Given the description of an element on the screen output the (x, y) to click on. 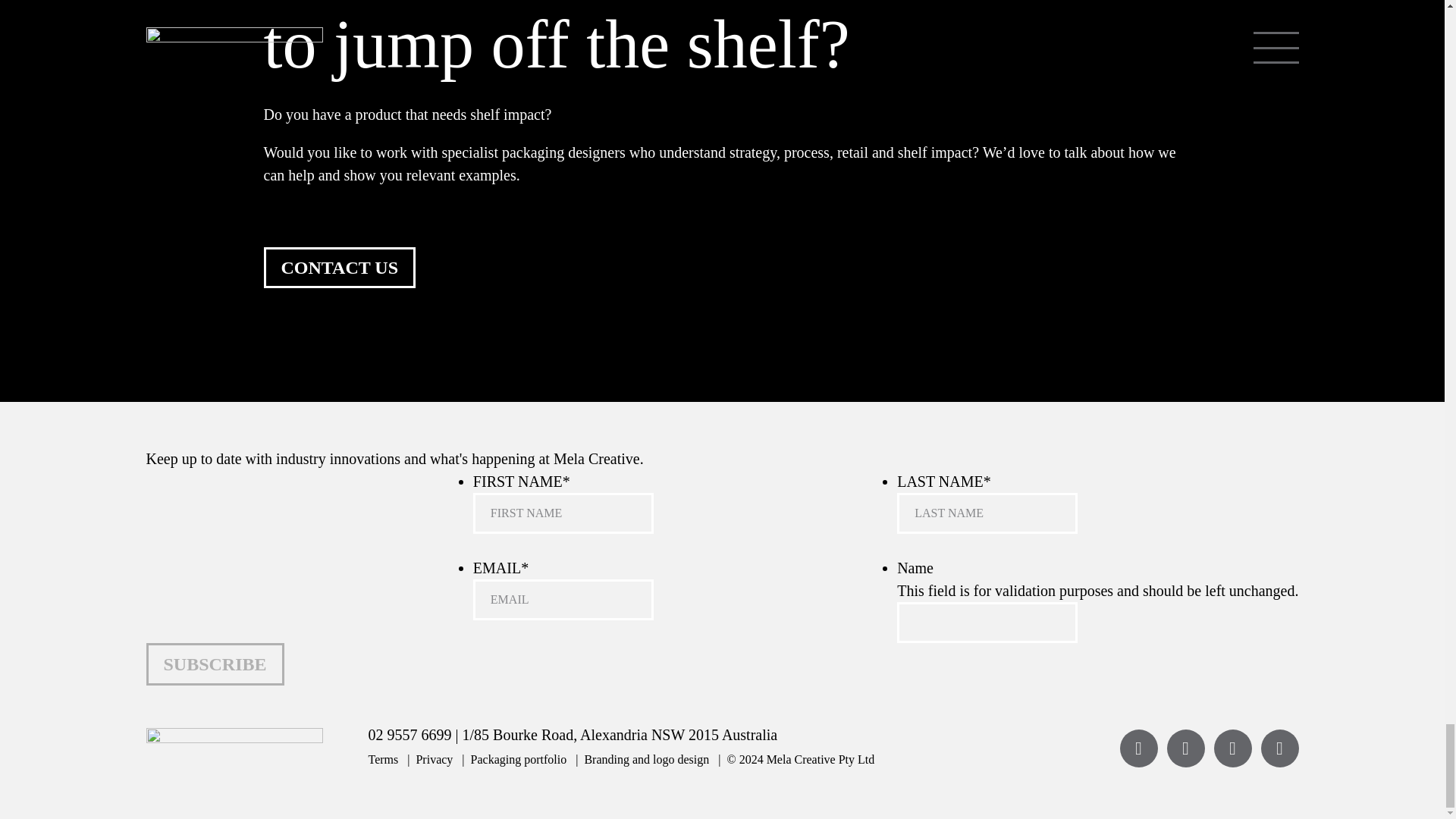
Branding and logo design (639, 758)
Packaging portfolio (510, 758)
SUBSCRIBE (214, 663)
SUBSCRIBE (214, 663)
Privacy (426, 758)
Mela Creative (801, 758)
Terms (383, 758)
02 9557 6699 (409, 734)
CONTACT US (338, 267)
